Given the description of an element on the screen output the (x, y) to click on. 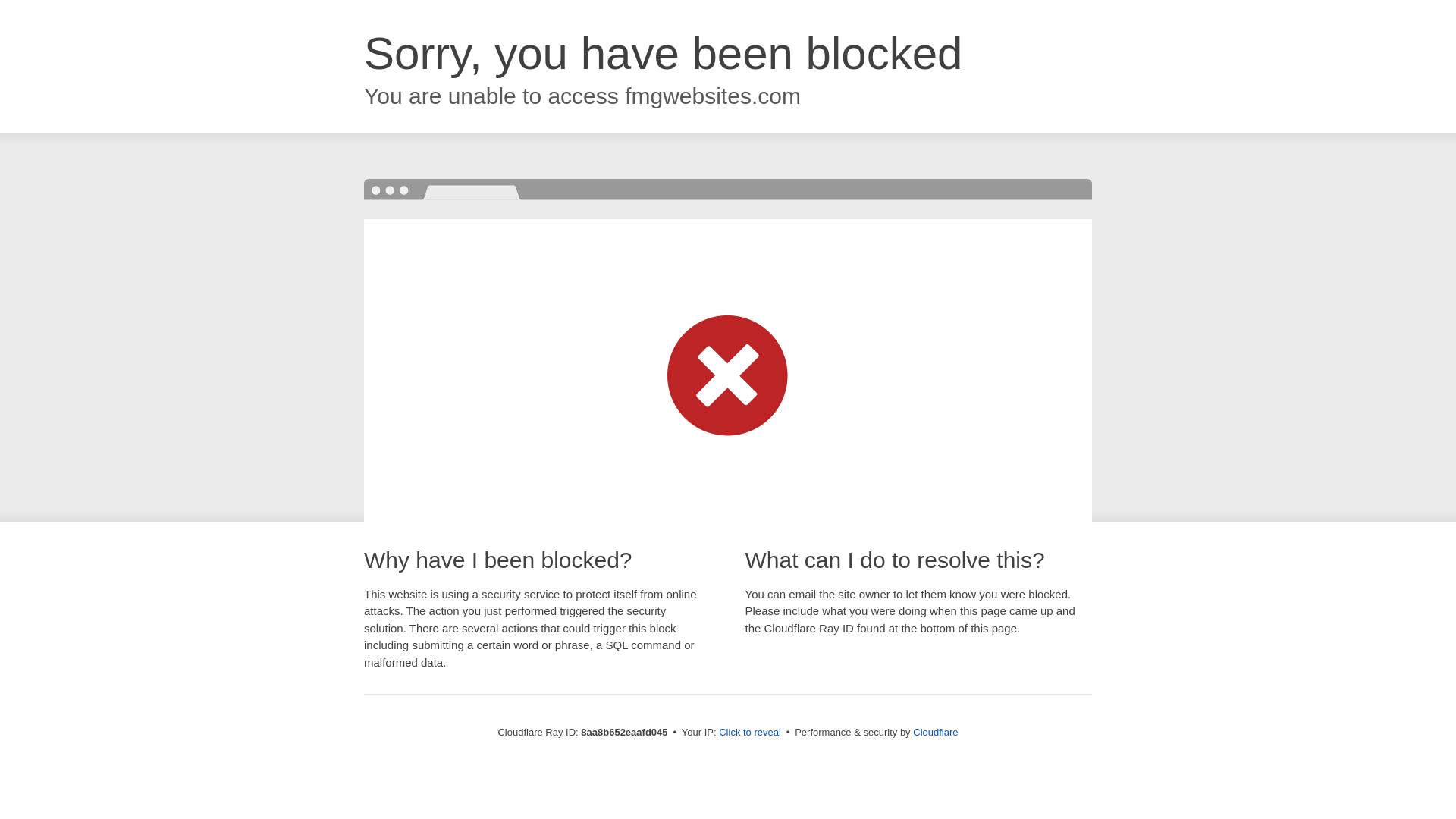
Cloudflare (935, 731)
Click to reveal (749, 732)
